Given the description of an element on the screen output the (x, y) to click on. 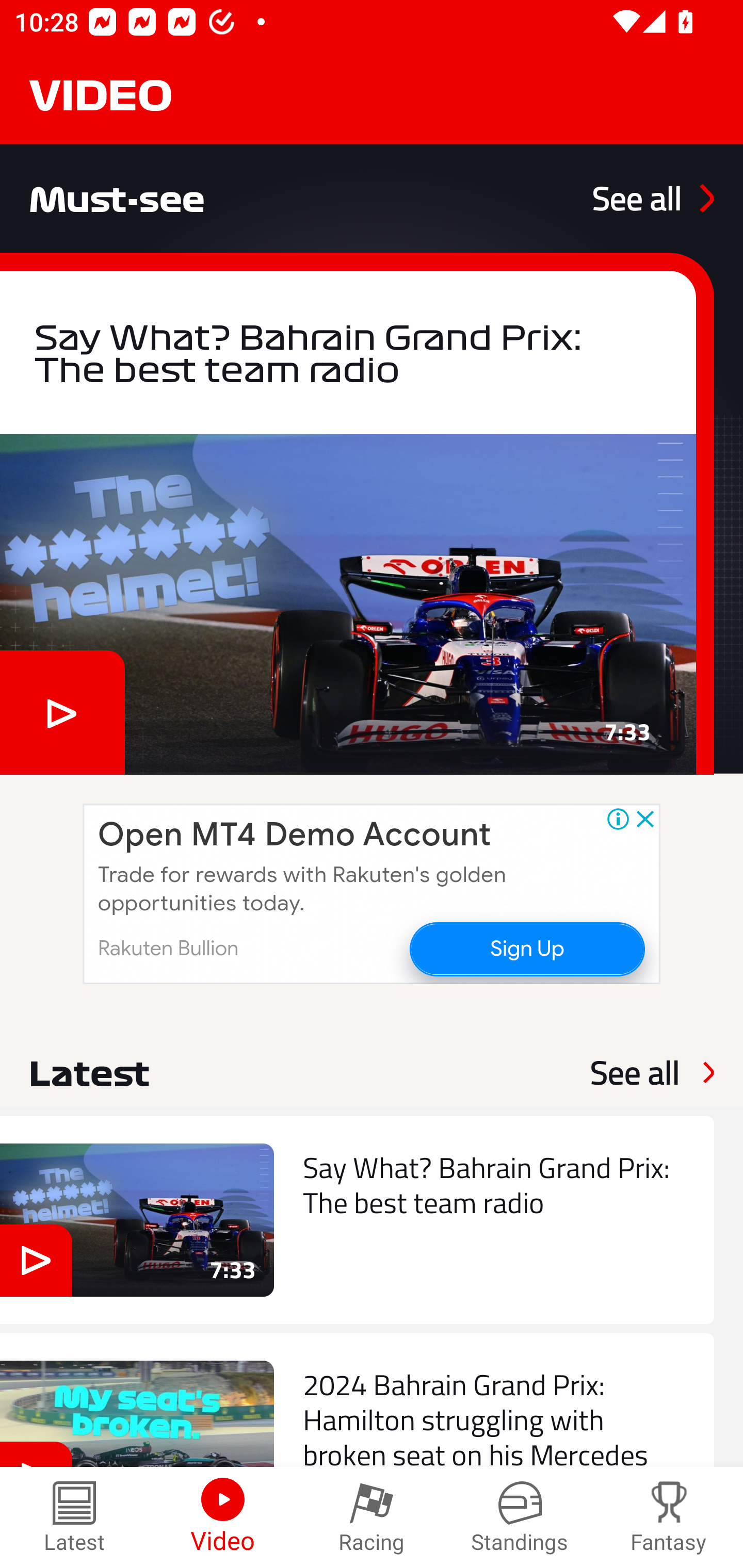
See all (653, 198)
Open MT4 Demo Account (294, 834)
Sign Up (526, 948)
Rakuten Bullion (168, 948)
See all (634, 1072)
Latest (74, 1517)
Racing (371, 1517)
Standings (519, 1517)
Fantasy (668, 1517)
